Given the description of an element on the screen output the (x, y) to click on. 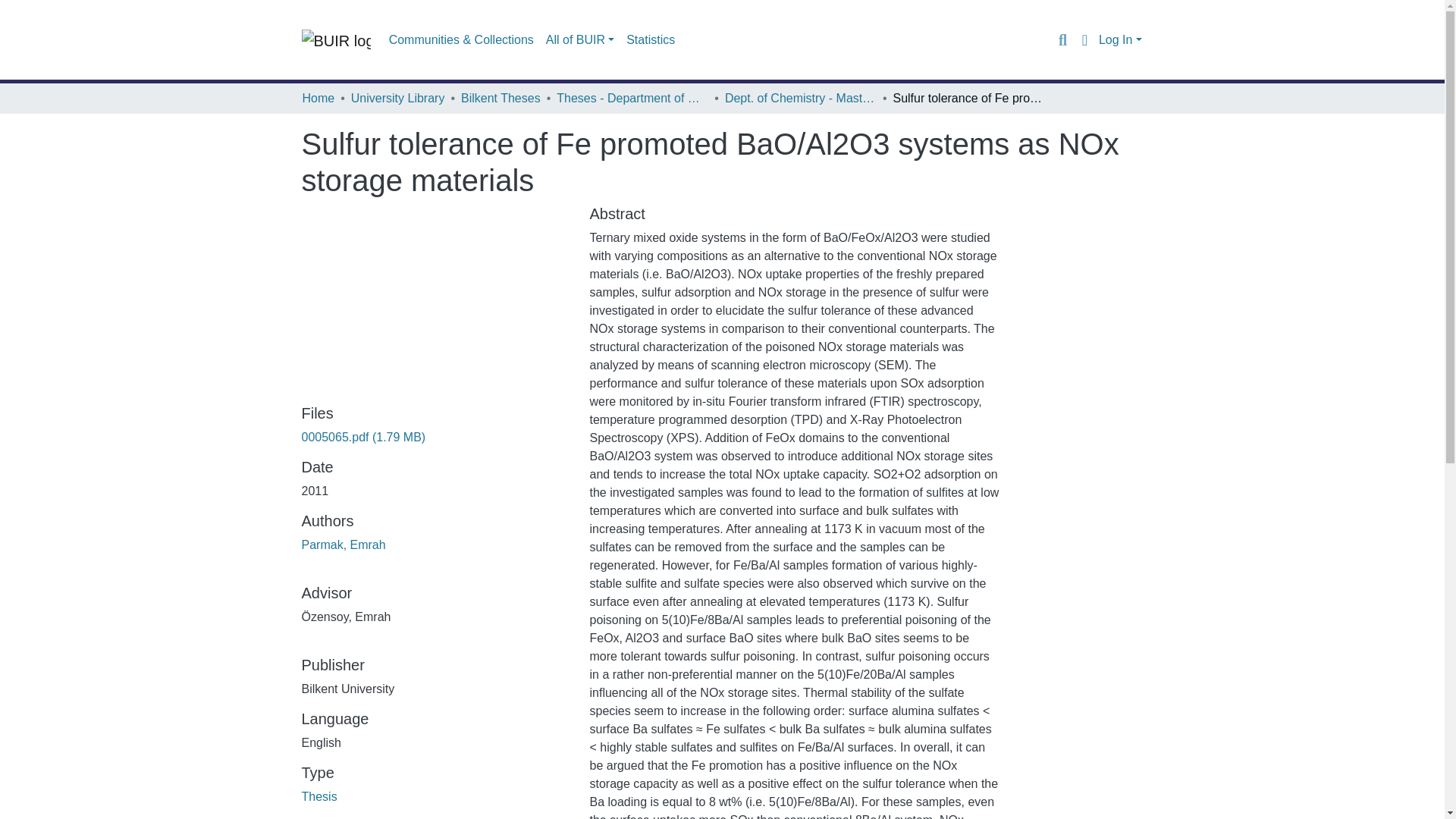
All of BUIR (580, 40)
Search (1061, 40)
Language switch (1084, 40)
Dept. of Chemistry - Master's degree (800, 98)
Statistics (650, 40)
University Library (397, 98)
Bilkent Theses (500, 98)
Thesis (319, 796)
Log In (1119, 39)
Home (317, 98)
Statistics (650, 40)
Theses - Department of Chemistry (631, 98)
Parmak, Emrah (343, 544)
